Given the description of an element on the screen output the (x, y) to click on. 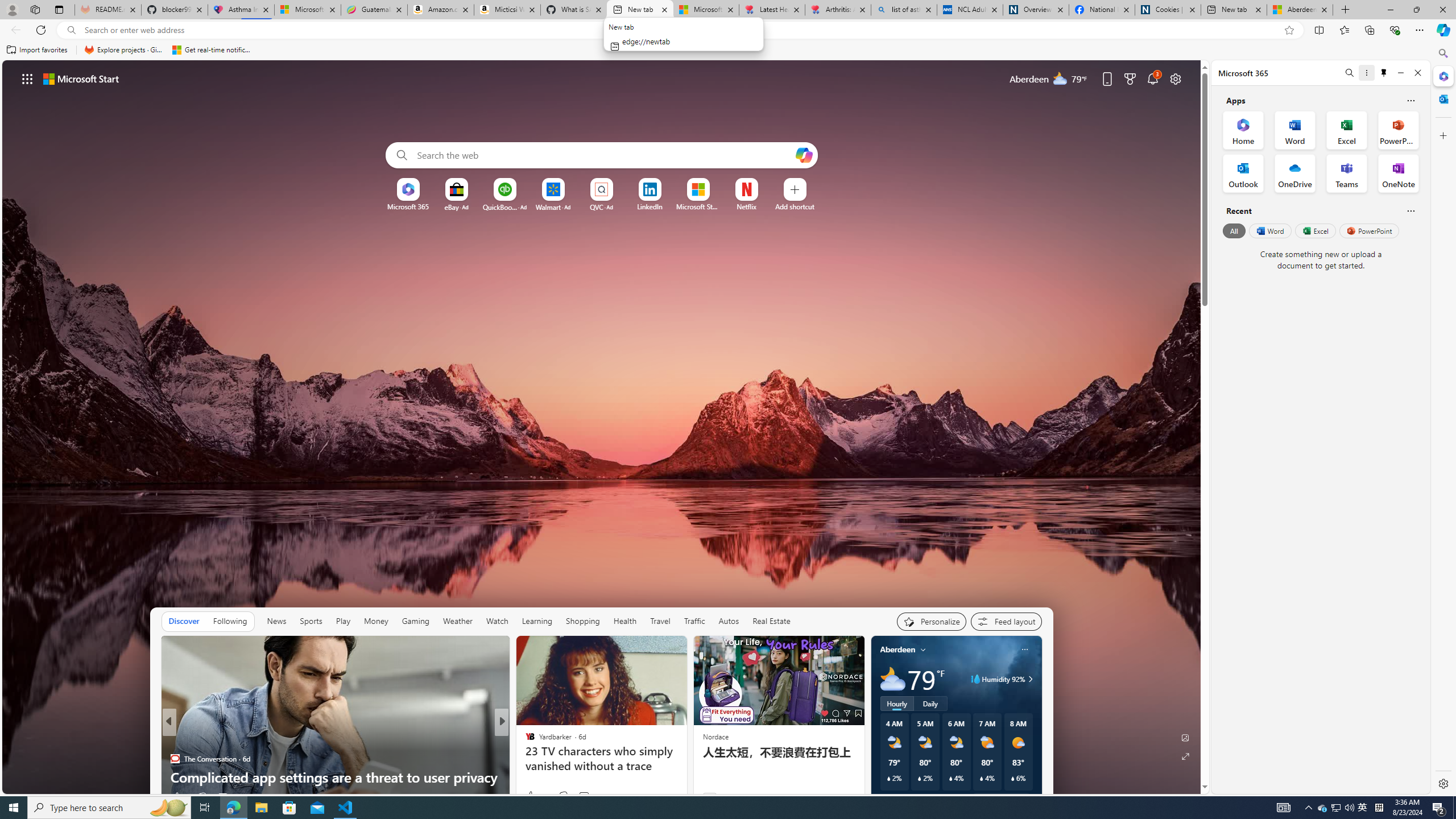
Edit Background (1185, 737)
Traffic (694, 621)
Page settings (1175, 78)
To get missing image descriptions, open the context menu. (407, 189)
